Given the description of an element on the screen output the (x, y) to click on. 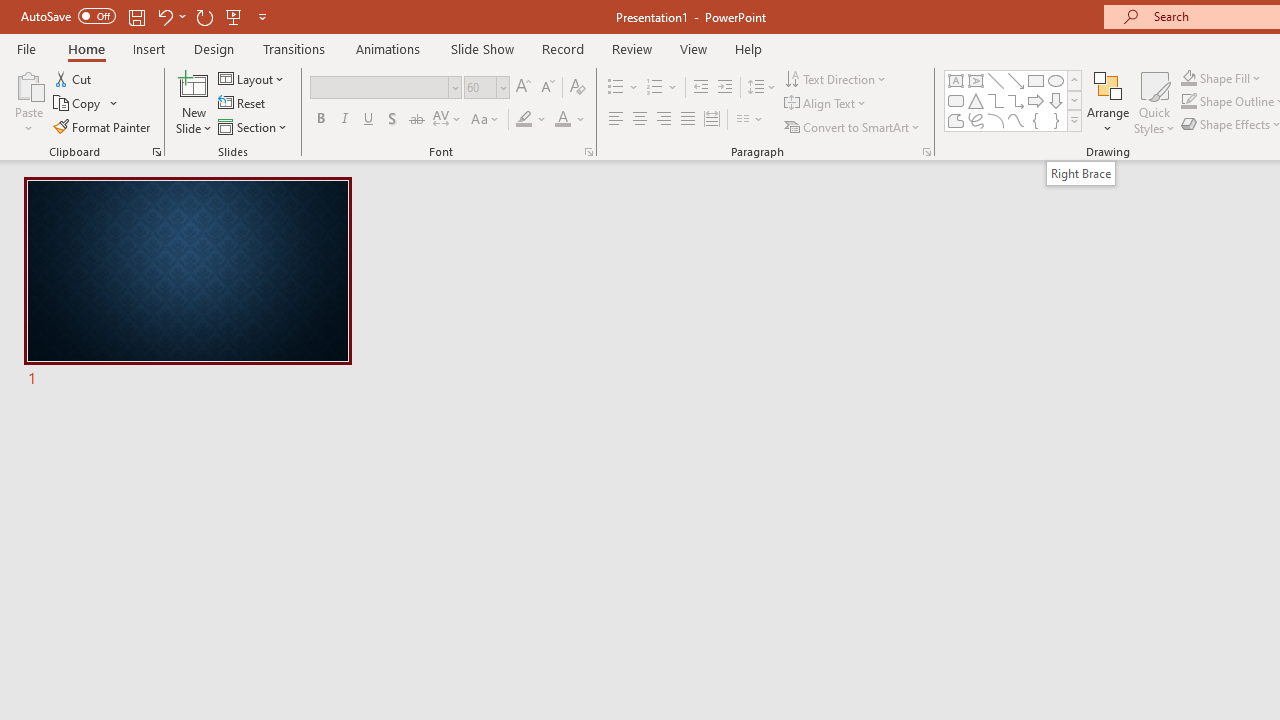
Layout (252, 78)
